Given the description of an element on the screen output the (x, y) to click on. 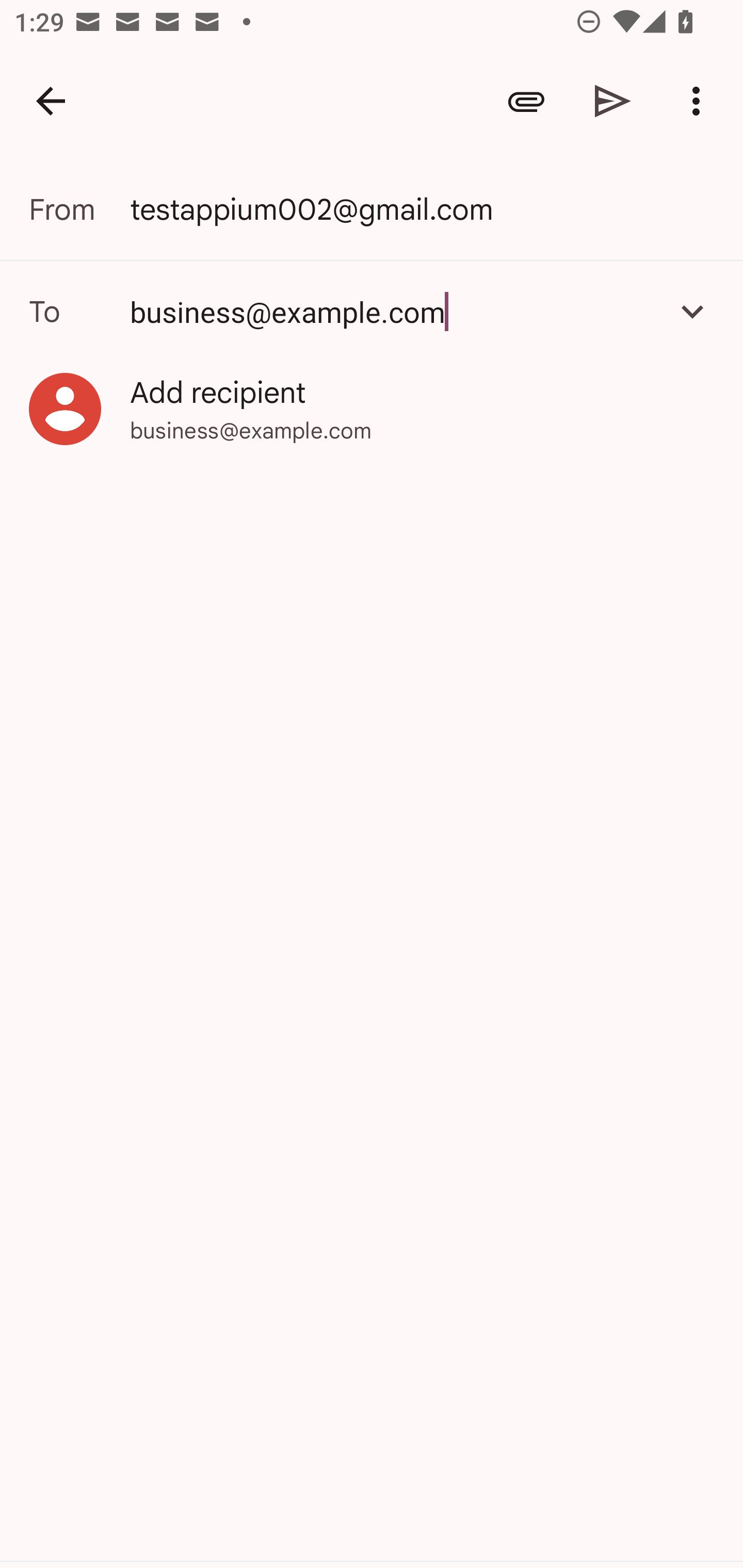
Navigate up (50, 101)
Attach file (525, 101)
Send (612, 101)
More options (699, 101)
From (79, 209)
Add Cc/Bcc (692, 311)
business@example.com (371, 311)
business@example.com (393, 311)
Add recipient business@example.com (371, 408)
